Given the description of an element on the screen output the (x, y) to click on. 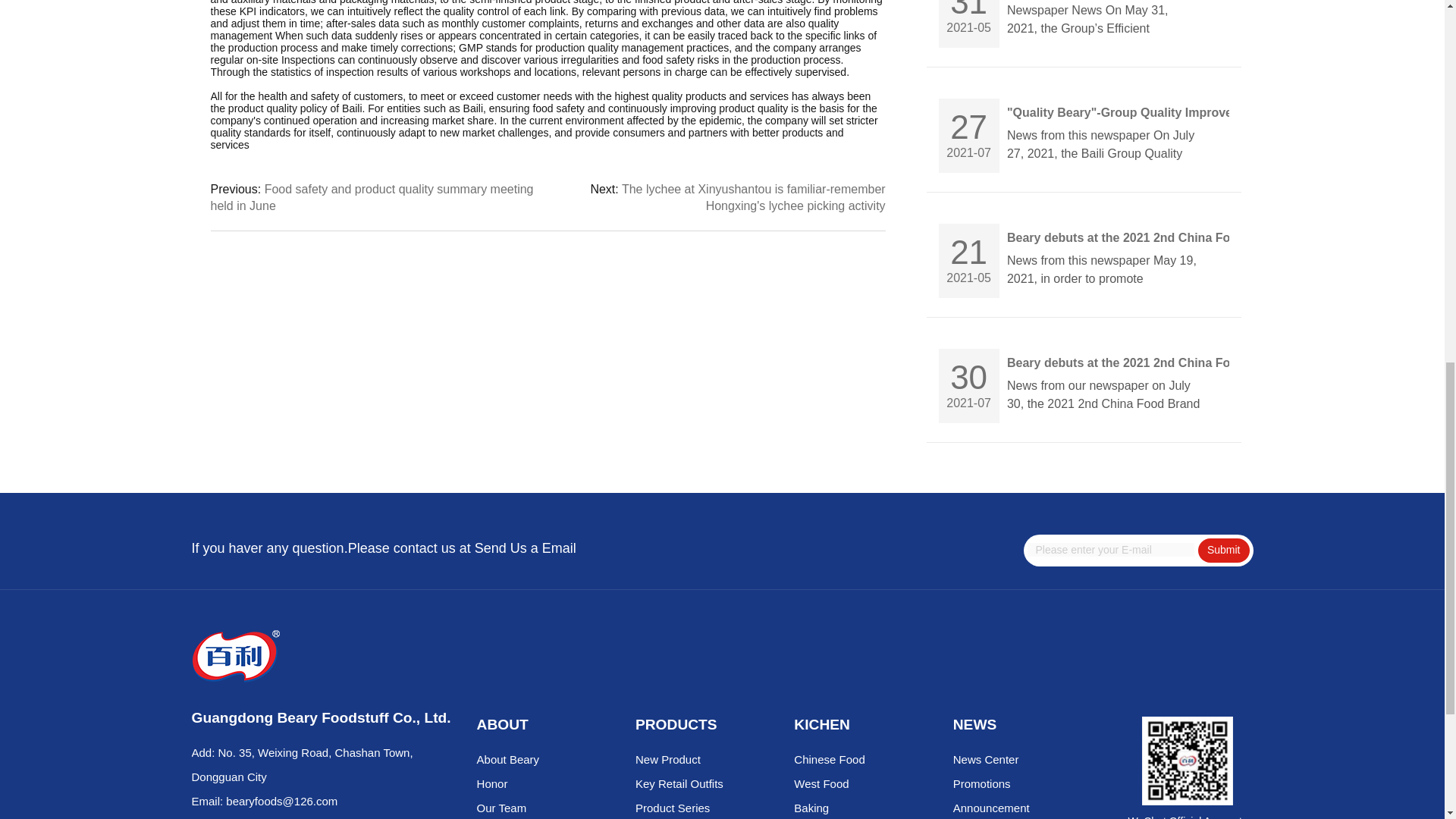
Food safety and product quality summary meeting held in June (372, 196)
WeChat Official Accounts (1187, 760)
